Given the description of an element on the screen output the (x, y) to click on. 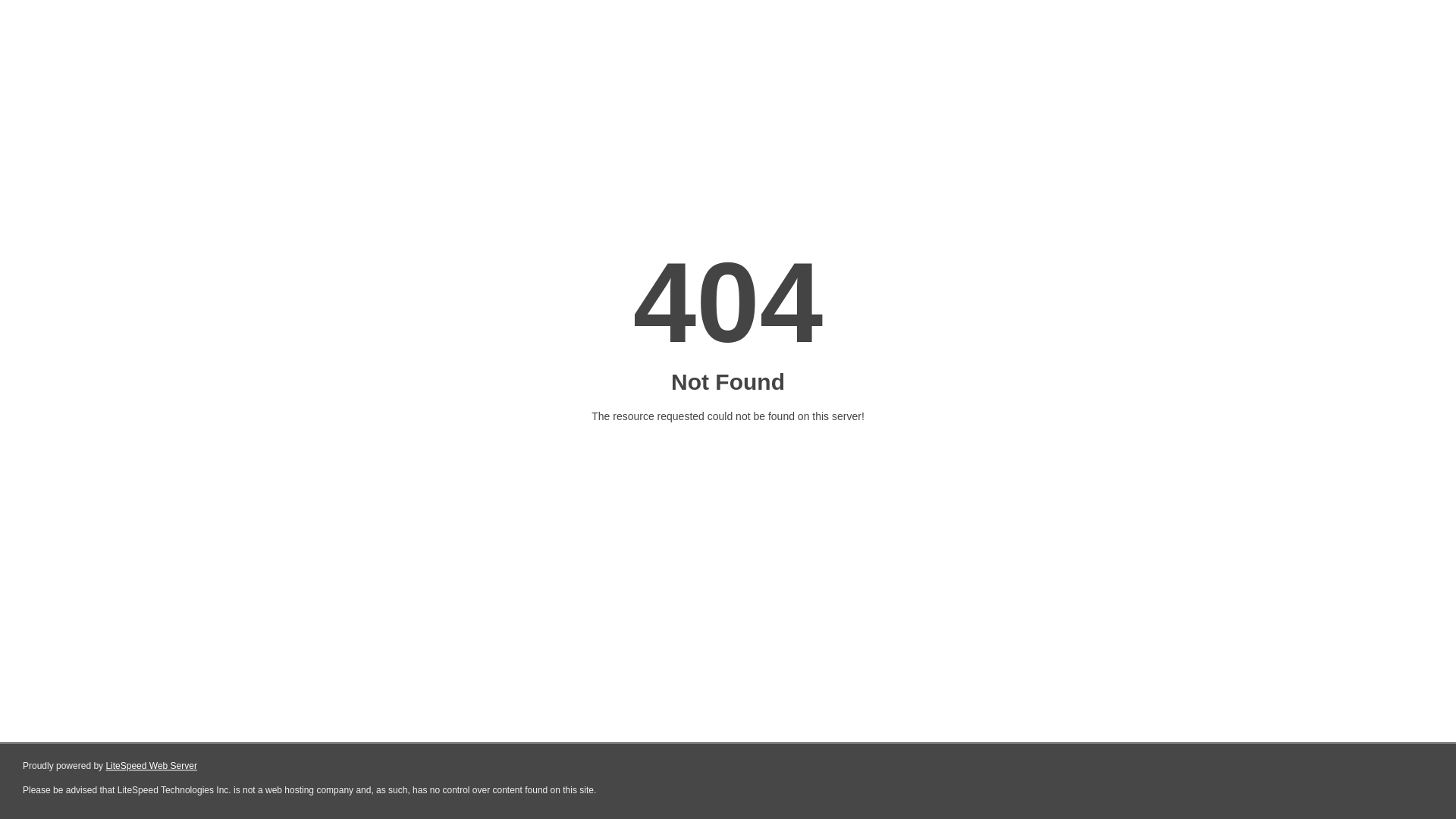
LiteSpeed Web Server Element type: text (151, 765)
